Given the description of an element on the screen output the (x, y) to click on. 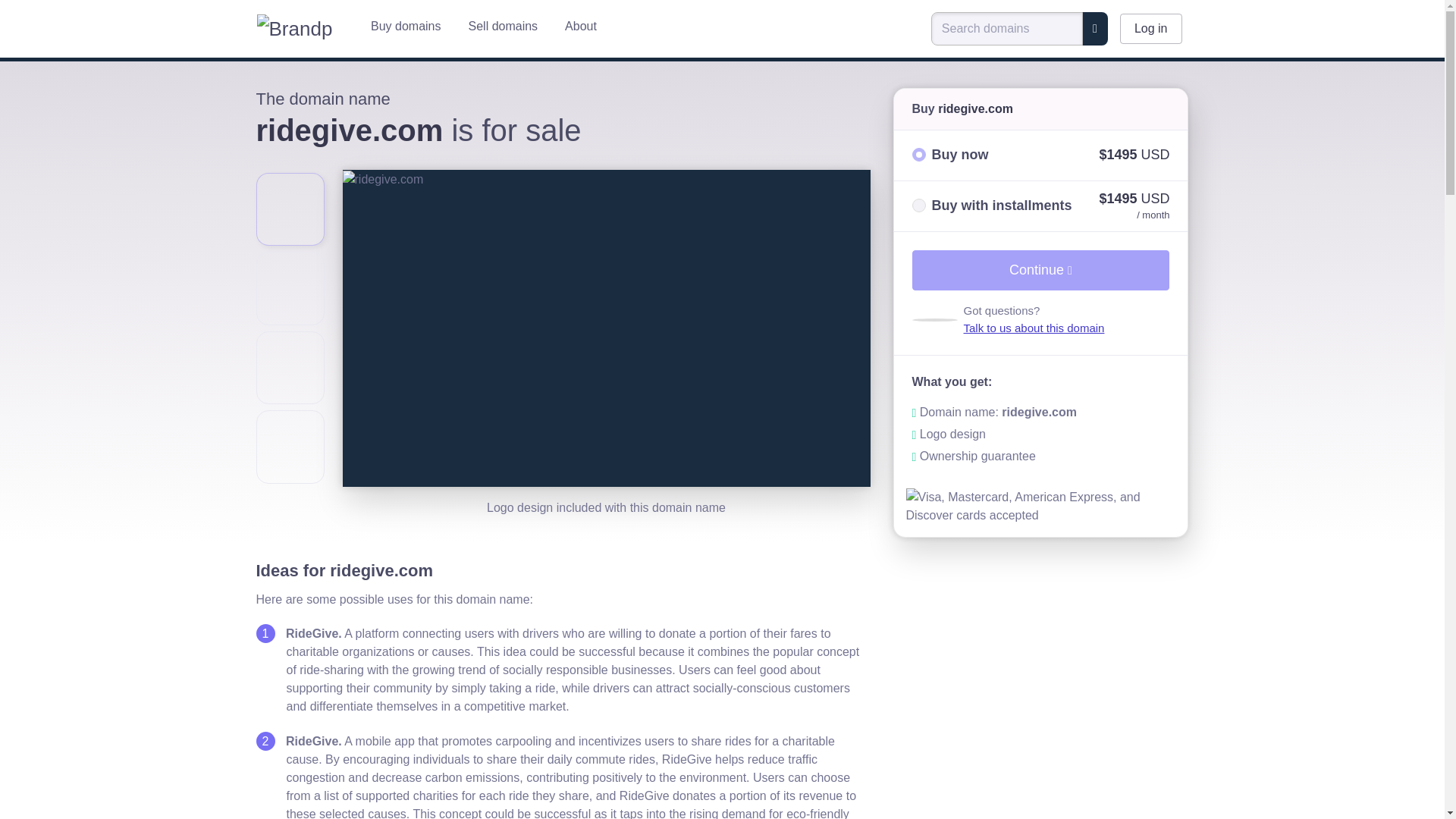
Sell domains (502, 25)
About (580, 25)
Buy domains (405, 25)
buy (917, 154)
installments (917, 205)
Log in (1150, 28)
